Given the description of an element on the screen output the (x, y) to click on. 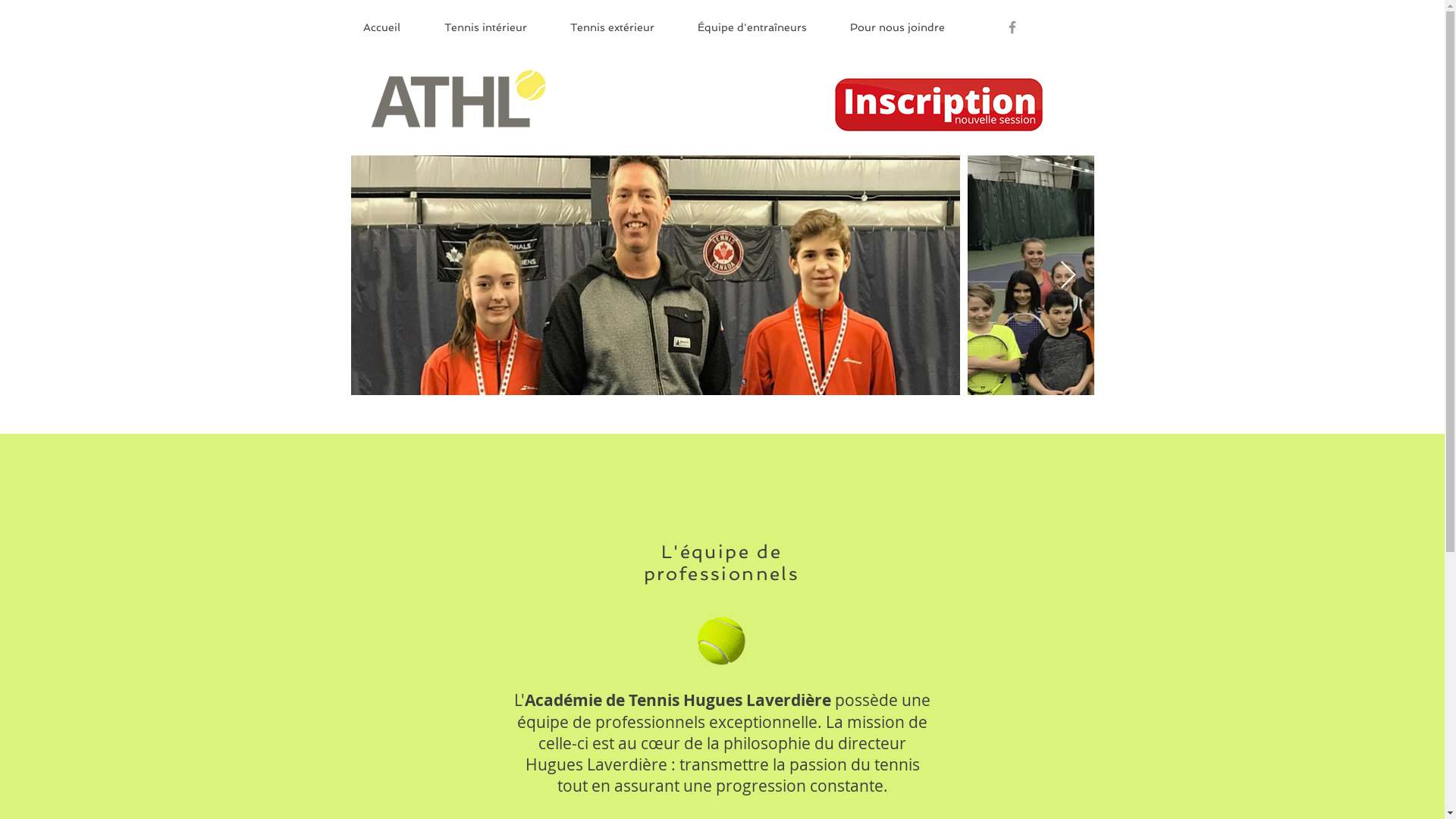
Accueil Element type: text (392, 26)
Pour nous joindre Element type: text (907, 26)
Tennis_Balle.png Element type: hover (721, 642)
